Given the description of an element on the screen output the (x, y) to click on. 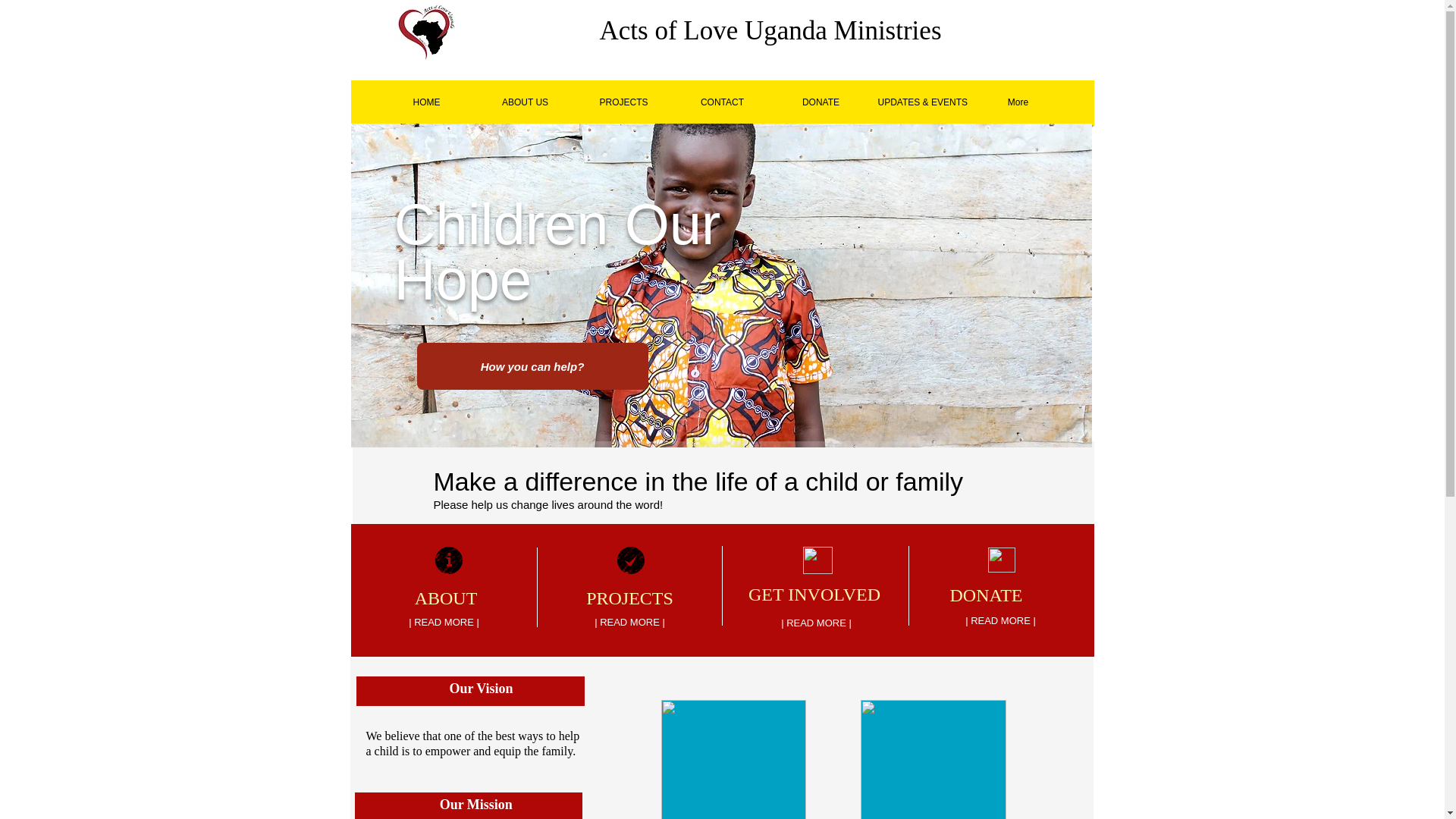
CONTACT (721, 102)
Acts of Love Uganda Logo.jpg (427, 31)
Chrystal and little boy.jpg (733, 759)
HOME (426, 102)
ABOUT US (525, 102)
How you can help? (531, 366)
PROJECTS (623, 102)
DONATE (820, 102)
